Given the description of an element on the screen output the (x, y) to click on. 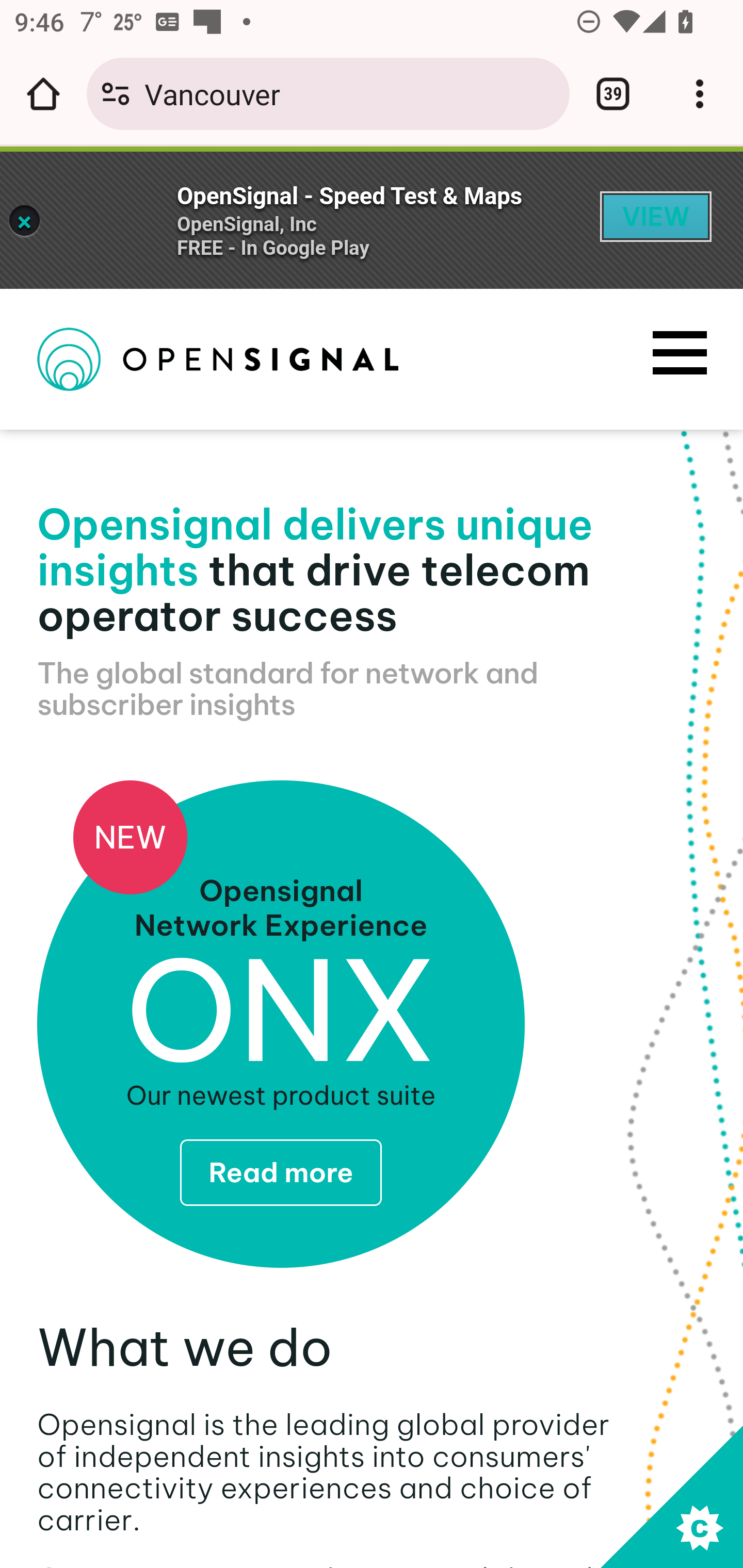
Open the home page (43, 93)
Connection is secure (115, 93)
Switch or close tabs (612, 93)
Customize and control Google Chrome (699, 93)
Vancouver (349, 92)
VIEW (656, 216)
× (24, 219)
Opensignal Logo (217, 359)
Read more (280, 1171)
Set cookie preferences (671, 1495)
